Given the description of an element on the screen output the (x, y) to click on. 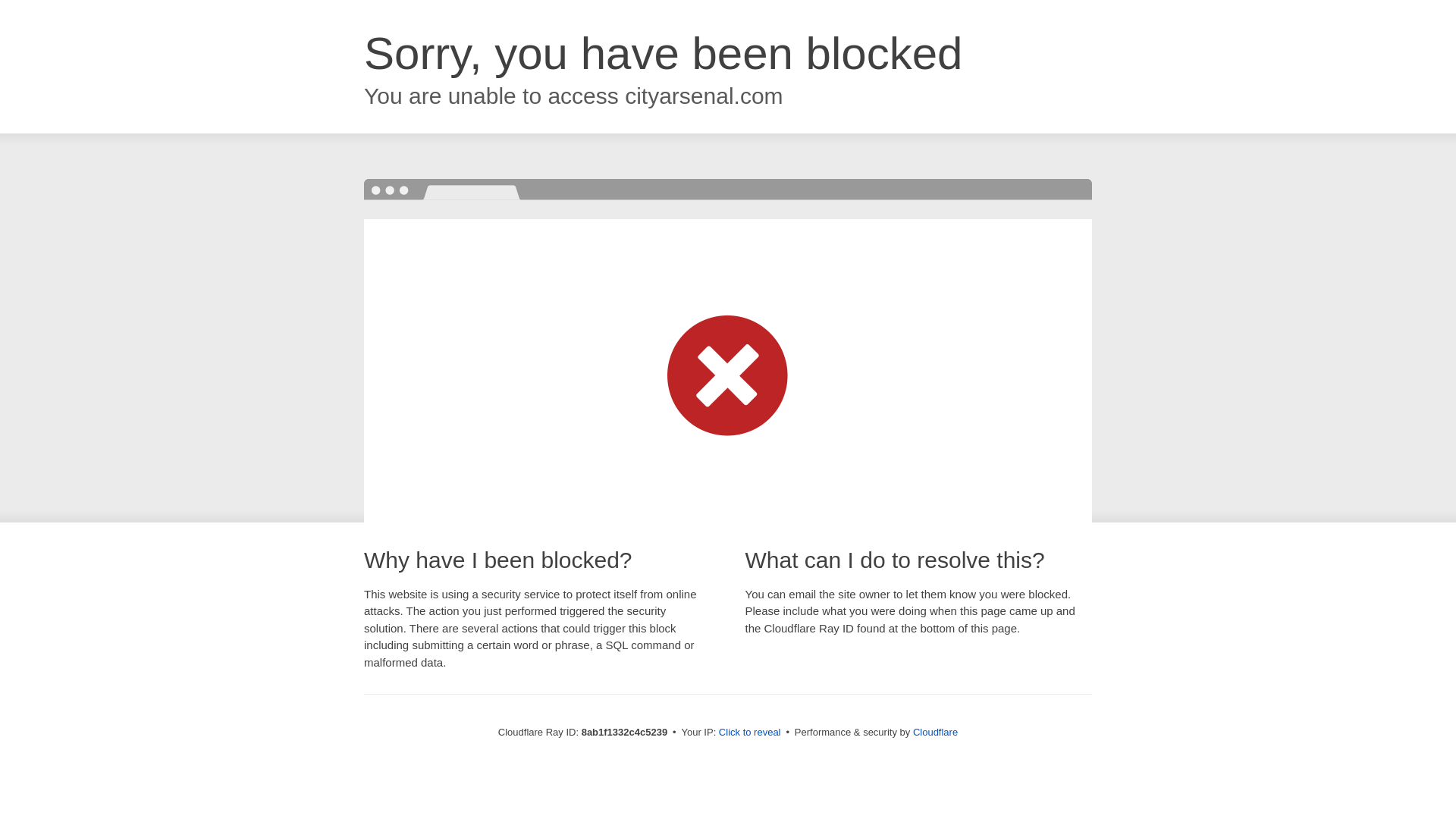
Cloudflare (935, 731)
Click to reveal (749, 732)
